Given the description of an element on the screen output the (x, y) to click on. 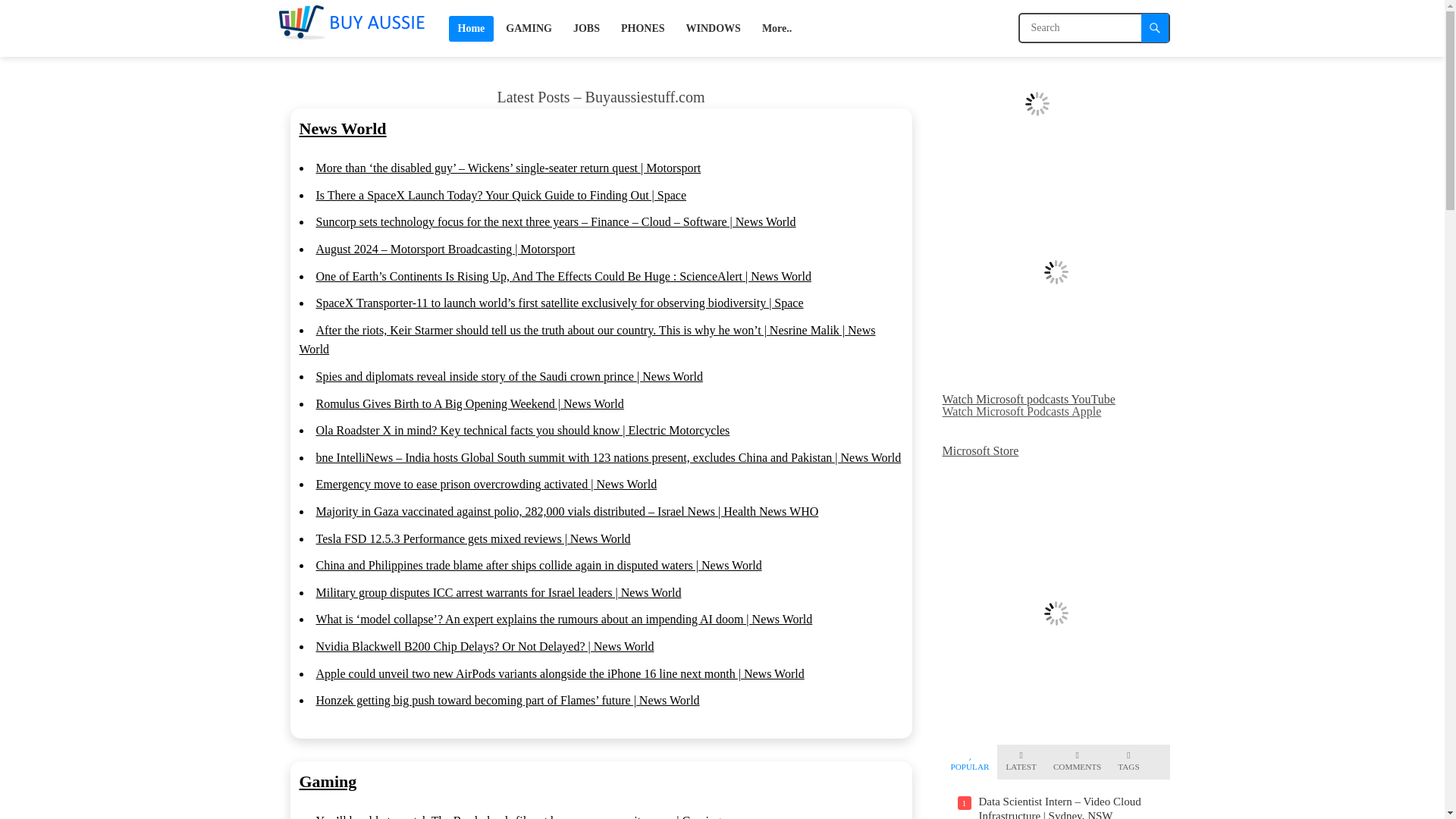
PHONES (642, 28)
GAMING (528, 28)
YouTube video player (1055, 271)
Apple Music Latest (1036, 103)
WINDOWS (713, 28)
Official, ongoing Microsoft podcasts via YouTube. (1028, 399)
